Given the description of an element on the screen output the (x, y) to click on. 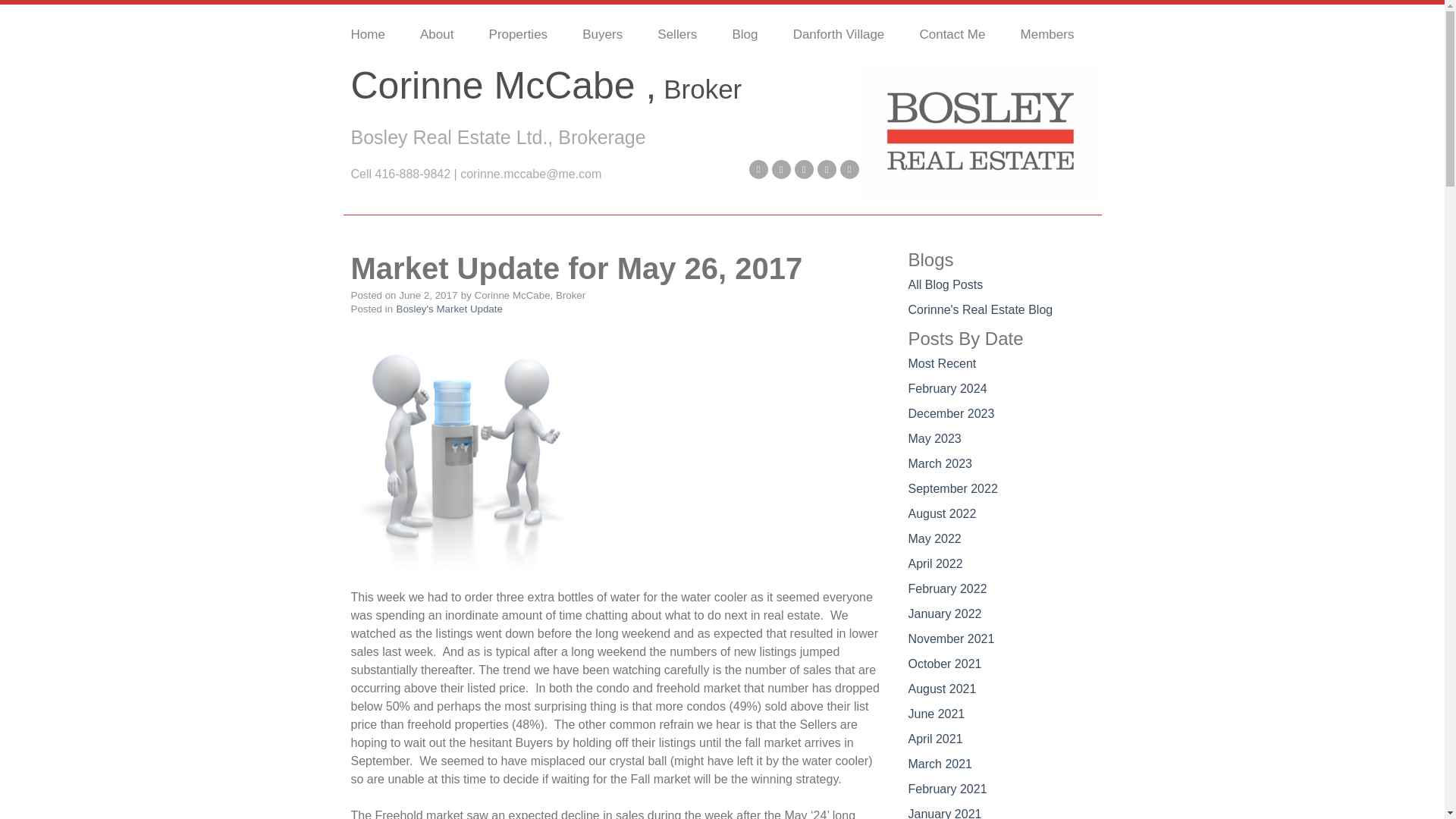
About (446, 34)
Properties (528, 34)
Buyers (612, 34)
All Blog Posts (946, 284)
Bosley's Market Update (449, 308)
Contact Me (961, 34)
Blog (753, 34)
Danforth Village (849, 34)
Sellers (686, 34)
Home (377, 34)
Members (1057, 34)
